Given the description of an element on the screen output the (x, y) to click on. 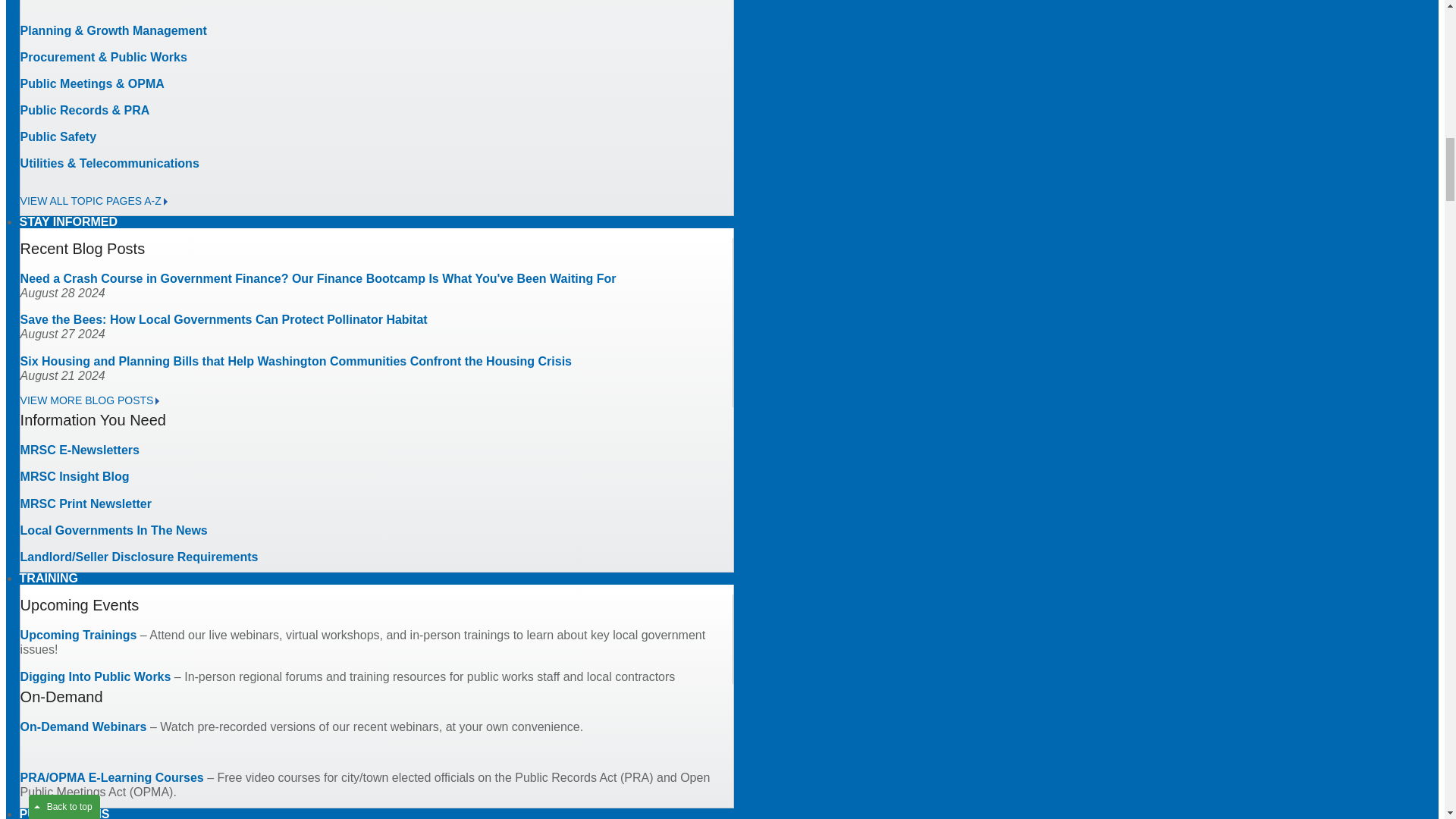
Publications (65, 809)
Local Governments In The News (114, 530)
Stay Informed (68, 221)
MRSC Newsletters (79, 449)
Training (49, 578)
